Given the description of an element on the screen output the (x, y) to click on. 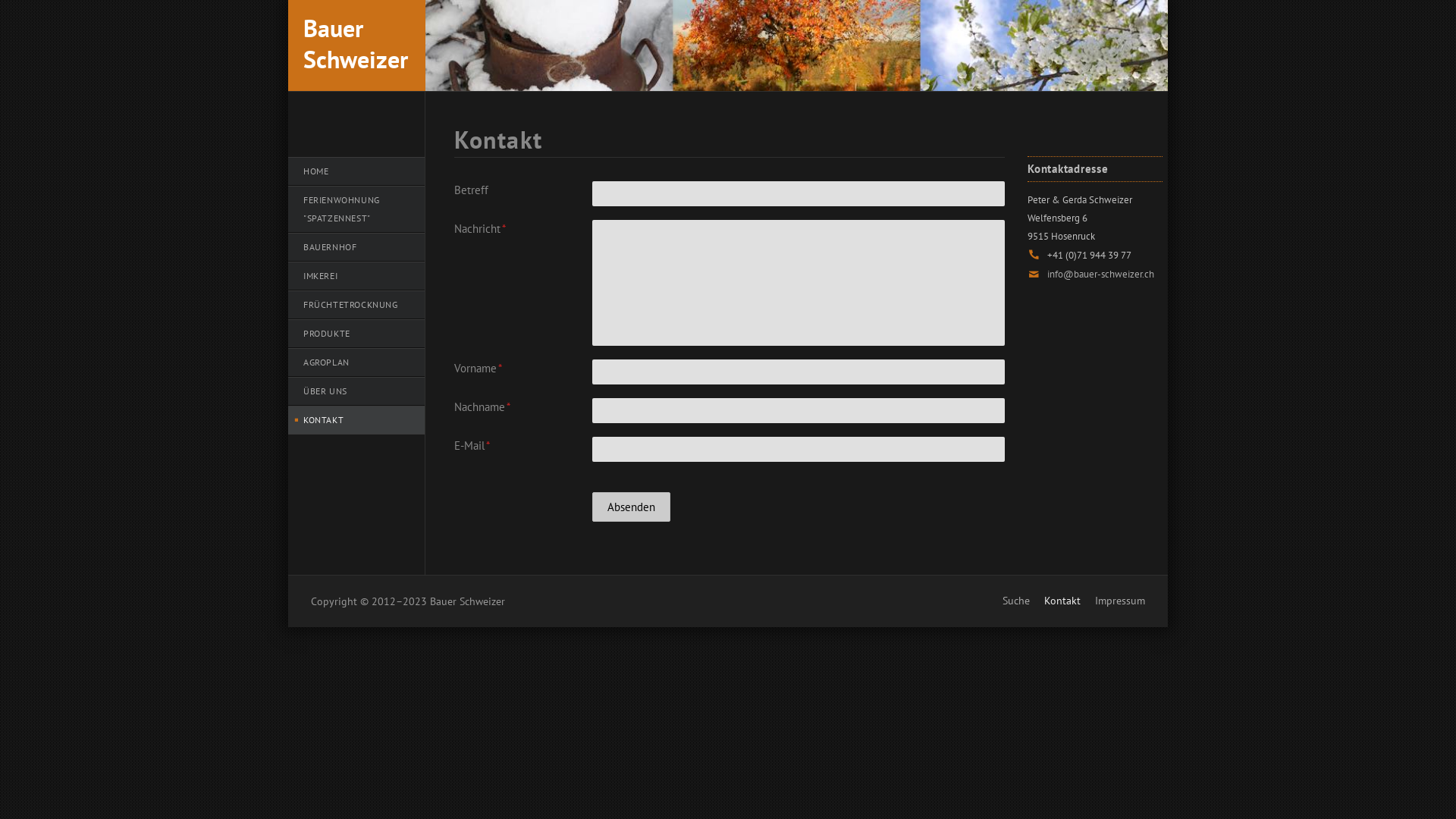
BAUERNHOF Element type: text (356, 246)
IMKEREI Element type: text (356, 275)
Suche Element type: text (1015, 599)
Absenden Element type: text (630, 506)
HOME Element type: text (356, 170)
Bauer Schweizer Element type: text (356, 37)
  Element type: text (1144, 609)
PRODUKTE Element type: text (356, 333)
Impressum Element type: text (1120, 599)
FERIENWOHNUNG "SPATZENNEST" Element type: text (356, 208)
  Element type: text (287, 433)
info@bauer-schweizer.ch Element type: text (1099, 273)
AGROPLAN Element type: text (356, 362)
